Given the description of an element on the screen output the (x, y) to click on. 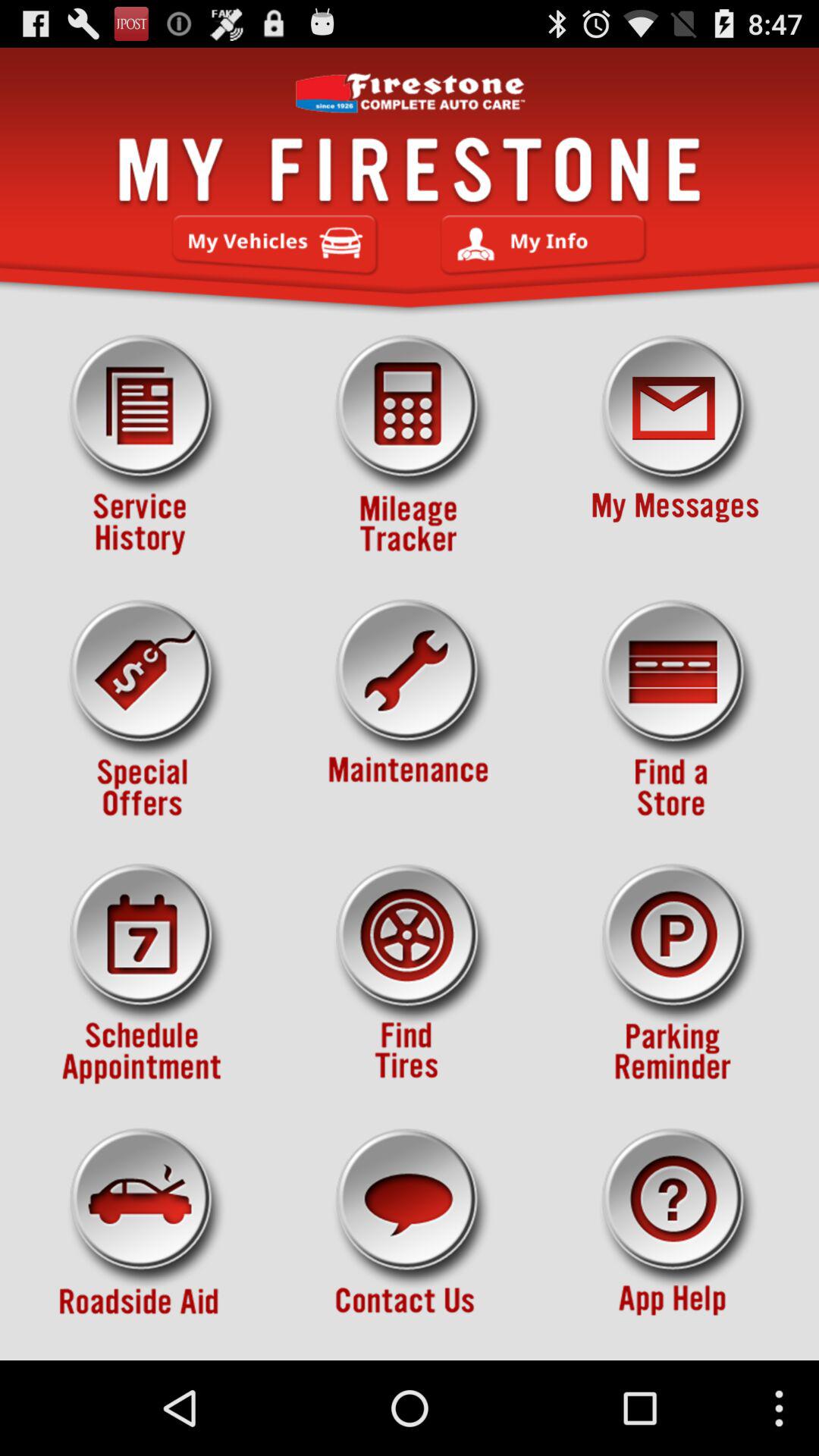
find tires option (409, 974)
